Given the description of an element on the screen output the (x, y) to click on. 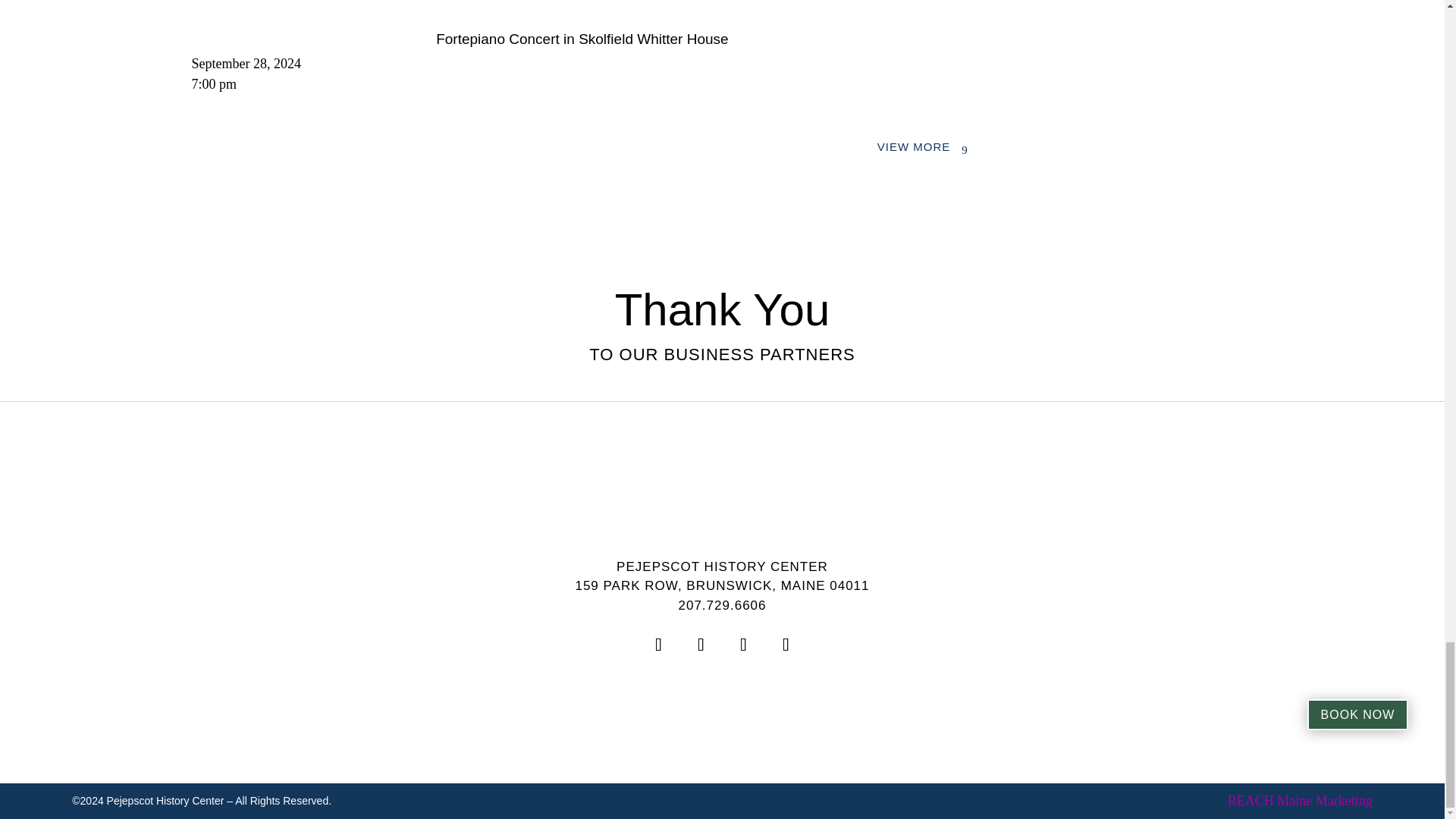
Follow on Facebook (743, 644)
Follow on Instagram (700, 644)
Follow on Youtube (658, 644)
Follow on TikTok (785, 644)
